Given the description of an element on the screen output the (x, y) to click on. 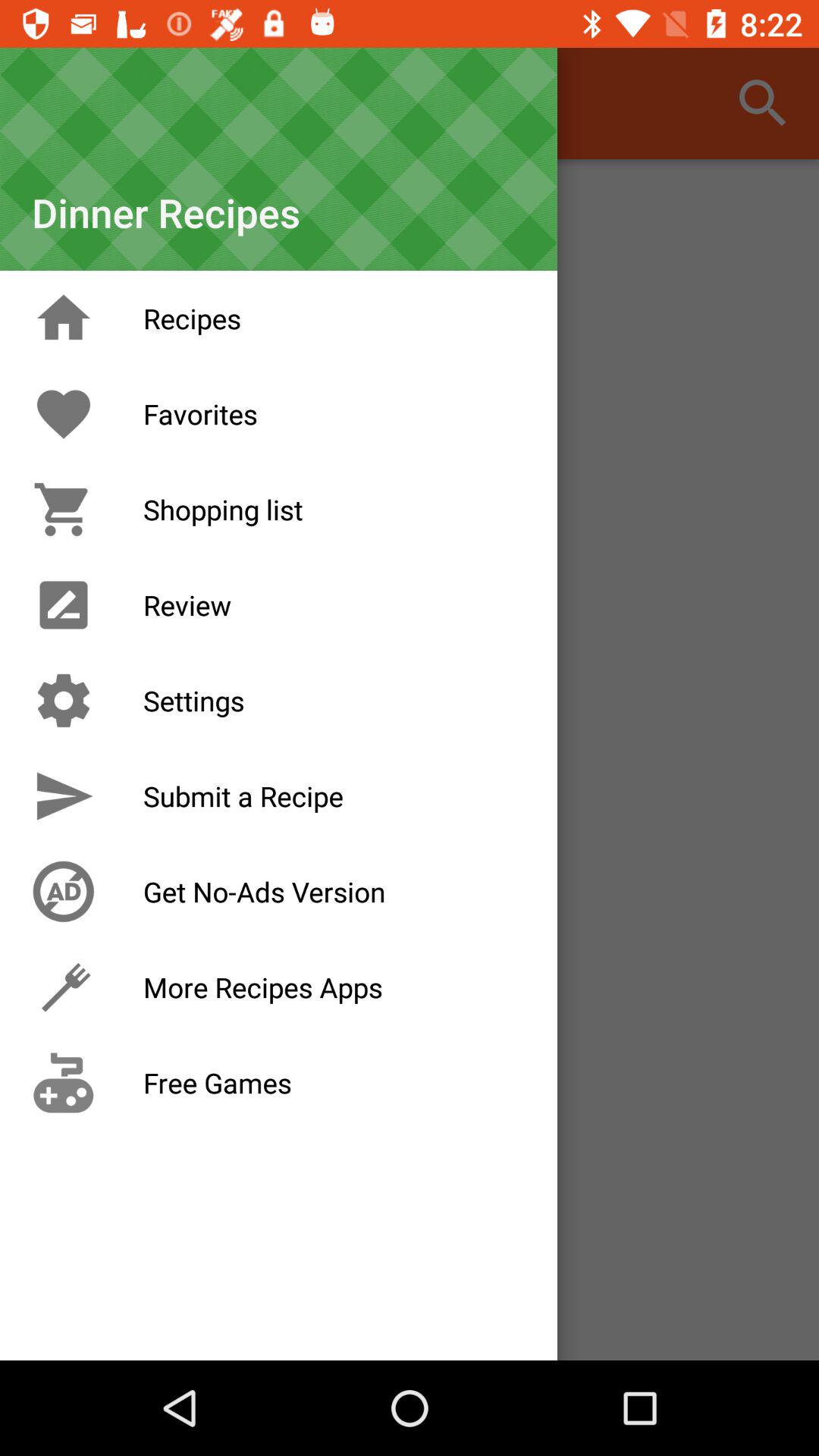
click on the cart icon (63, 509)
click on the icon left to text free games (63, 1083)
select the symbol which is to the immediate left of recipes (63, 318)
select no ad icon which is before get noads version on the page (63, 891)
